Given the description of an element on the screen output the (x, y) to click on. 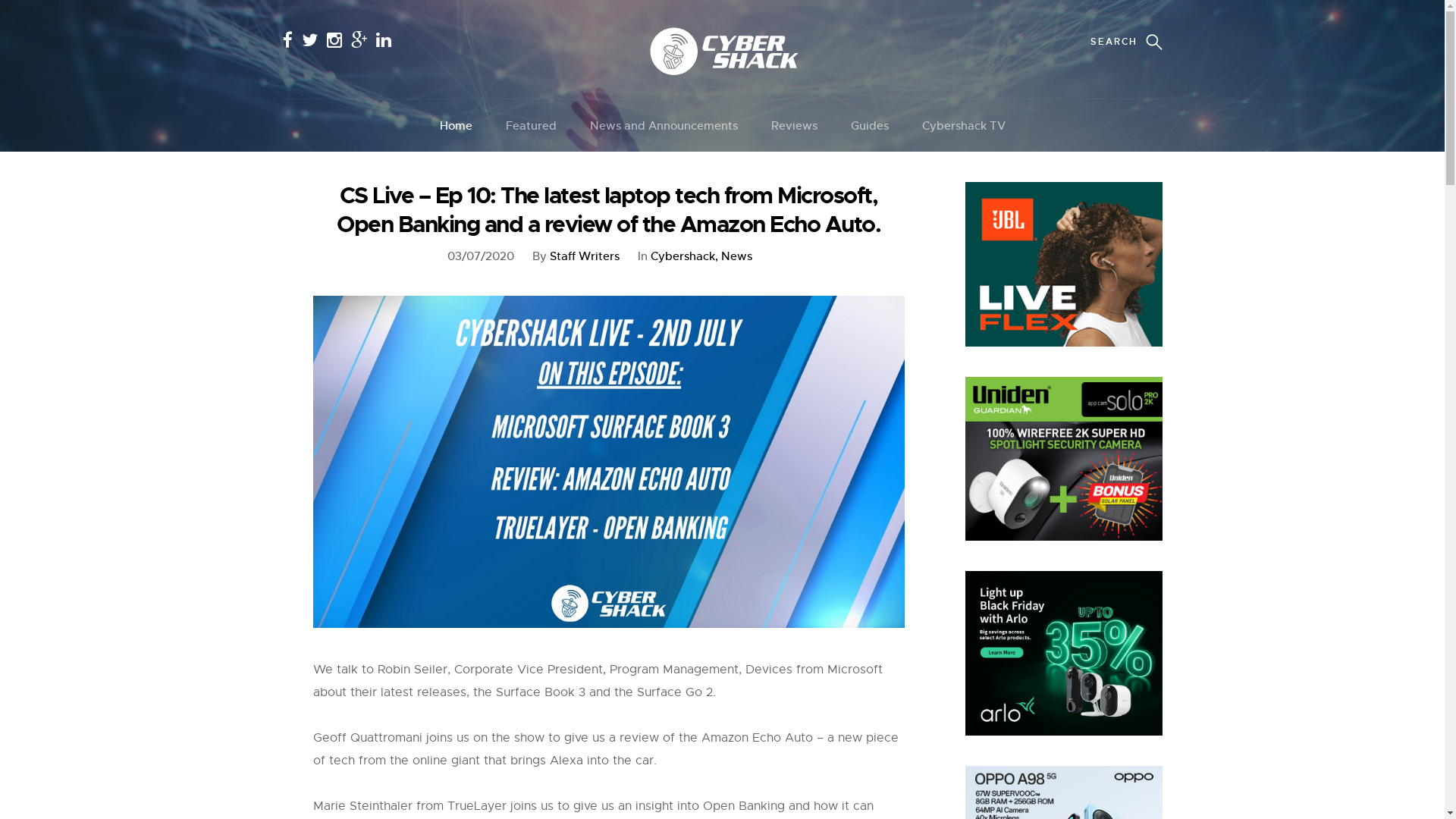
Reviews Element type: text (793, 125)
News and Announcements Element type: text (663, 125)
Featured Element type: text (530, 125)
Staff Writers Element type: text (583, 255)
Guides Element type: text (869, 125)
Home Element type: text (455, 125)
Cybershack Element type: text (684, 255)
Search Element type: text (50, 20)
News Element type: text (735, 255)
Cybershack TV Element type: text (963, 125)
